Given the description of an element on the screen output the (x, y) to click on. 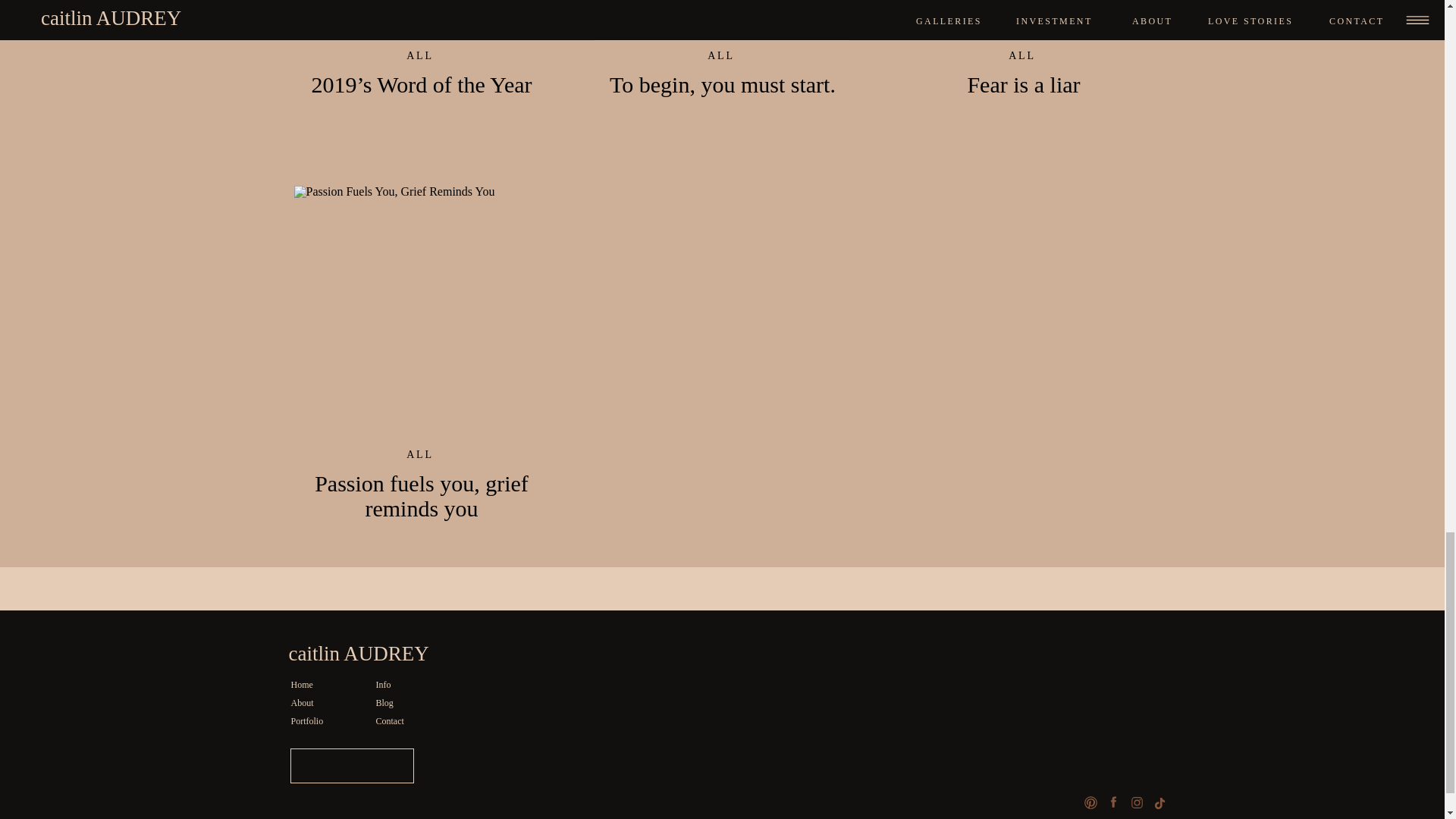
To begin, you must start. (721, 20)
Passion fuels you, grief reminds you (421, 312)
ALL (721, 55)
ALL (419, 55)
Fear is a liar (1023, 20)
To begin, you must start. (722, 84)
